Given the description of an element on the screen output the (x, y) to click on. 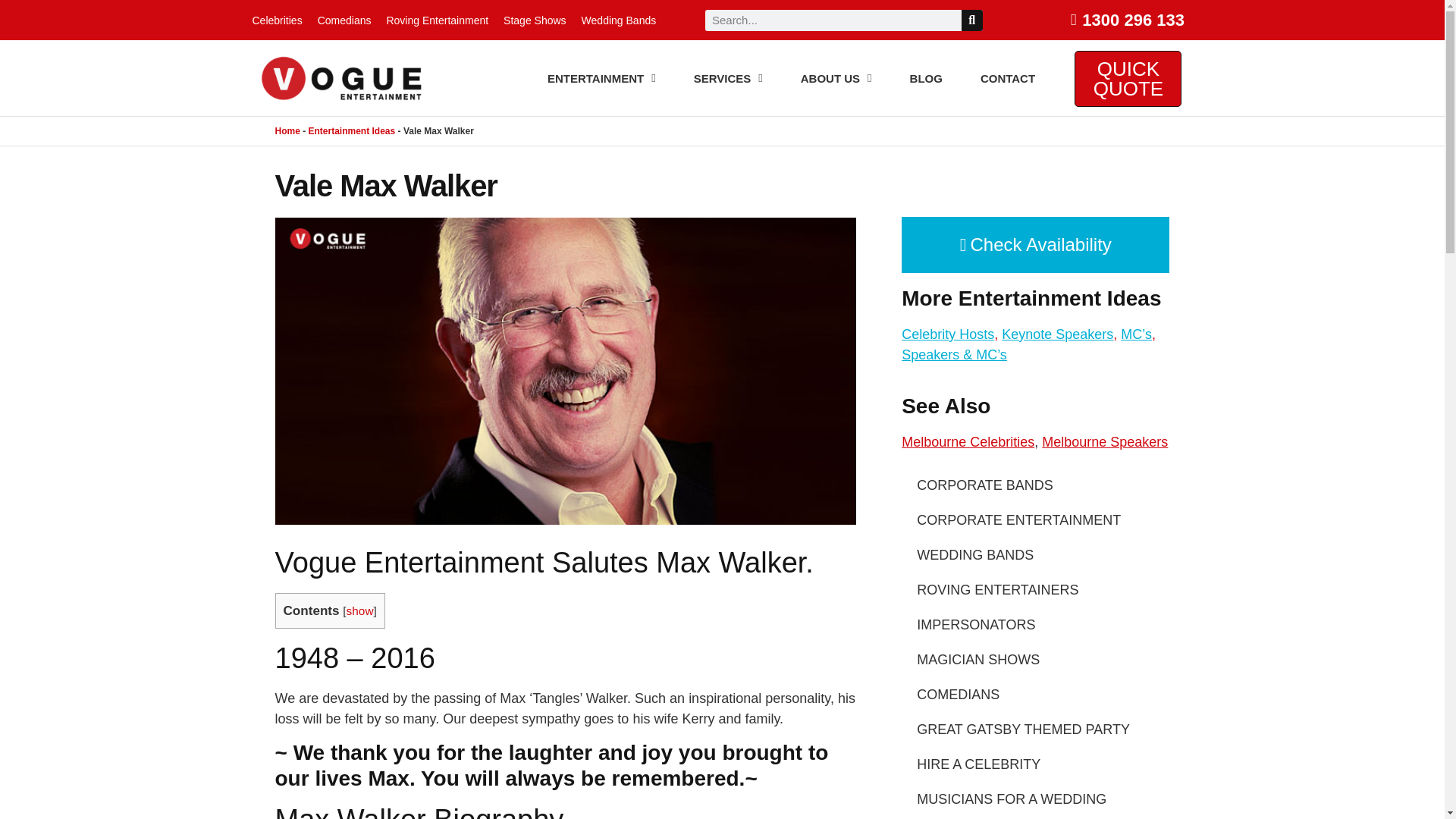
Roving Entertainment (436, 20)
ENTERTAINMENT (601, 78)
1300 296 133 (1121, 19)
Wedding Bands (618, 20)
Celebrities (276, 20)
Stage Shows (534, 20)
Comedians (344, 20)
